Given the description of an element on the screen output the (x, y) to click on. 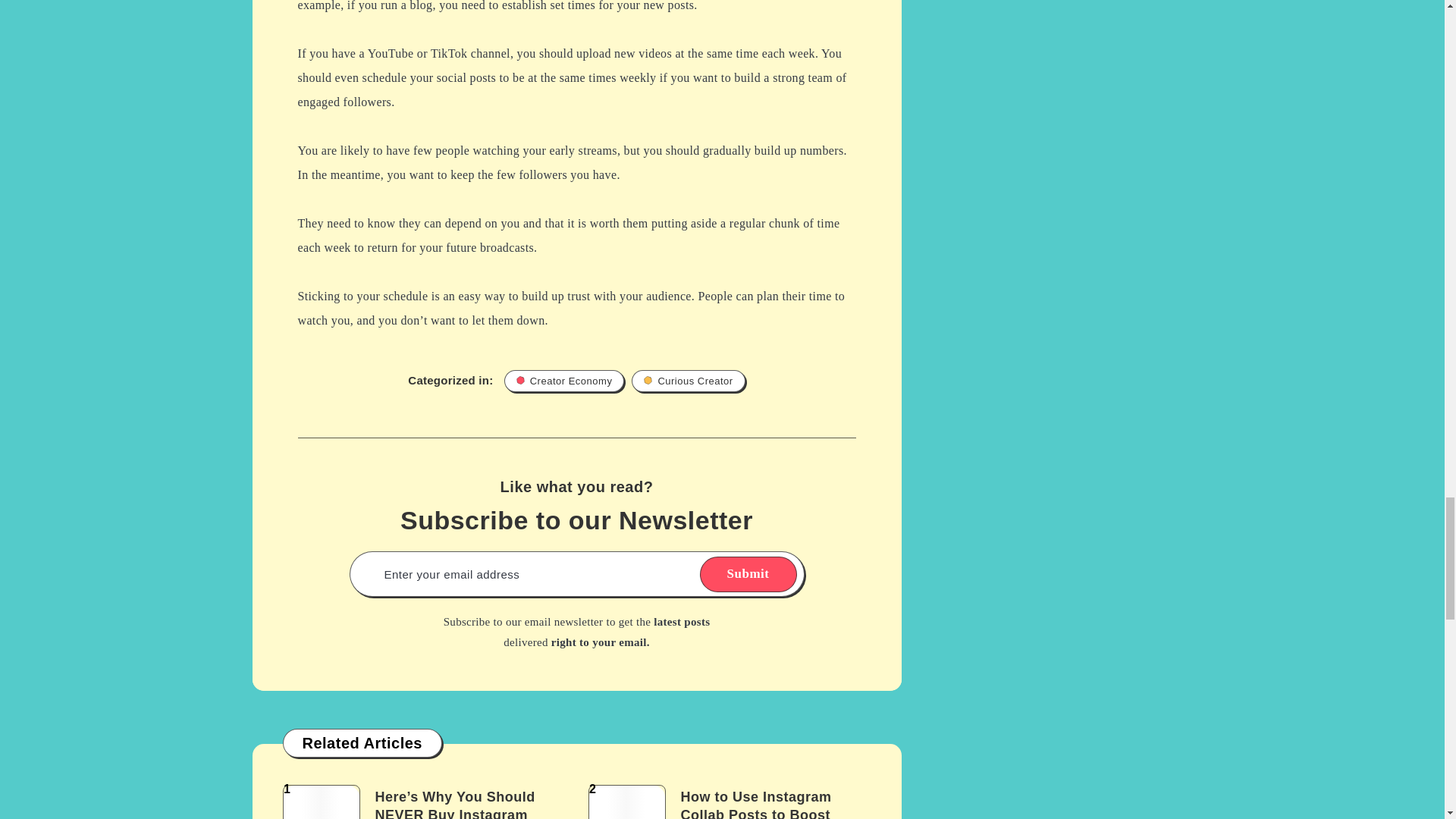
Curious Creator (687, 381)
Creator Economy (563, 381)
Submit (748, 574)
1 (320, 801)
2 (626, 801)
